Given the description of an element on the screen output the (x, y) to click on. 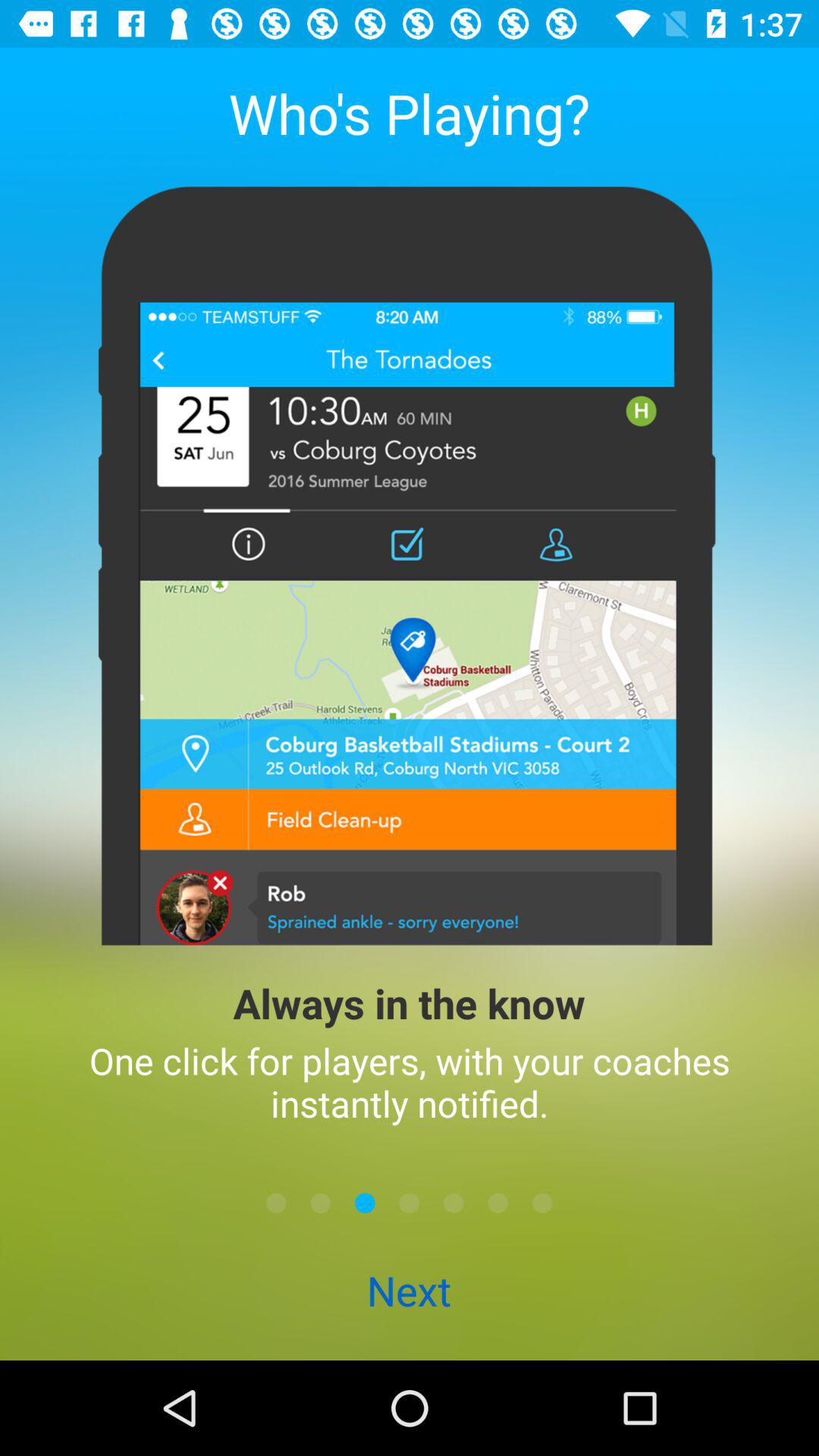
turn on the item above the next icon (409, 1203)
